Given the description of an element on the screen output the (x, y) to click on. 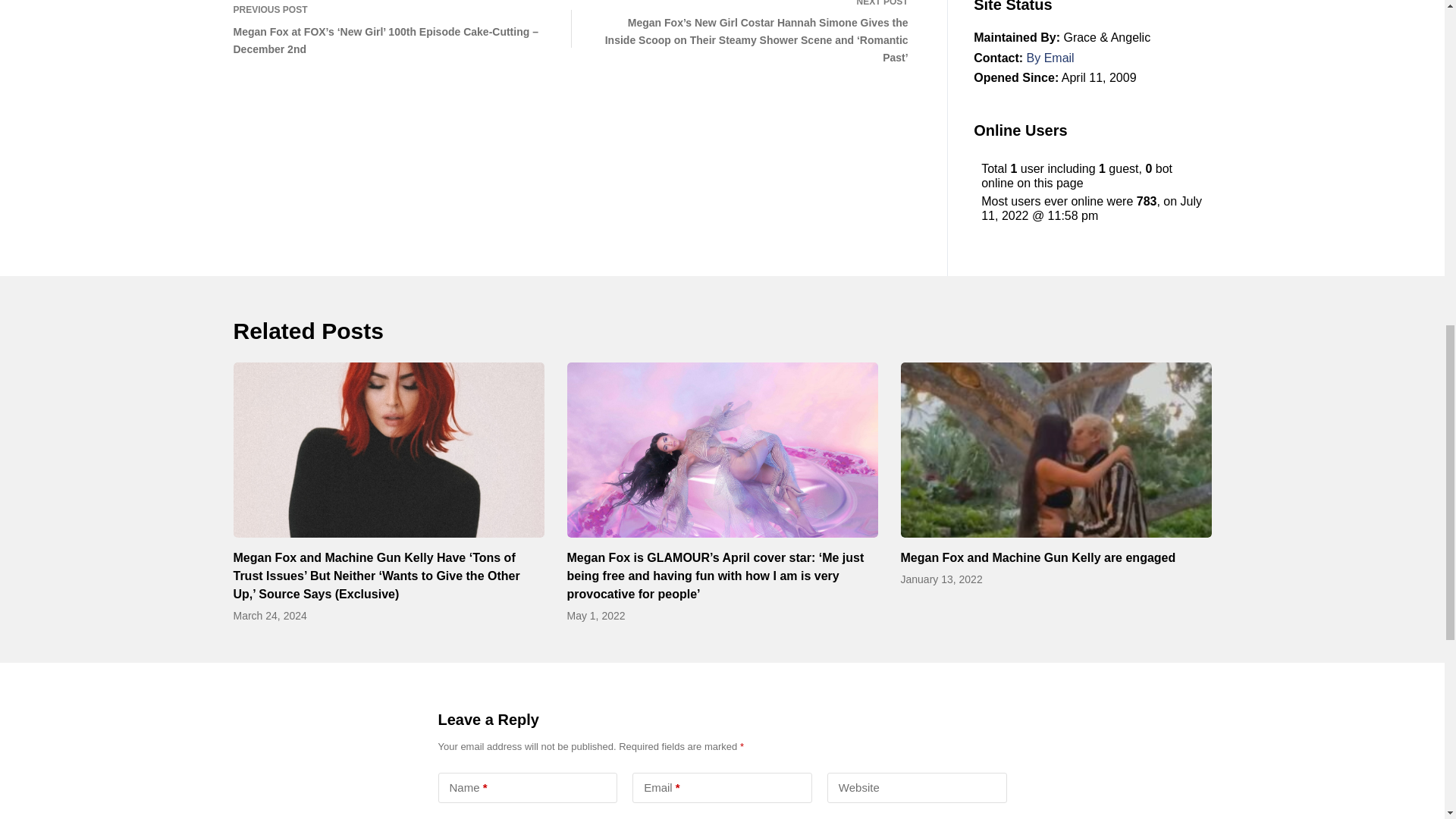
By Email (1050, 57)
